Given the description of an element on the screen output the (x, y) to click on. 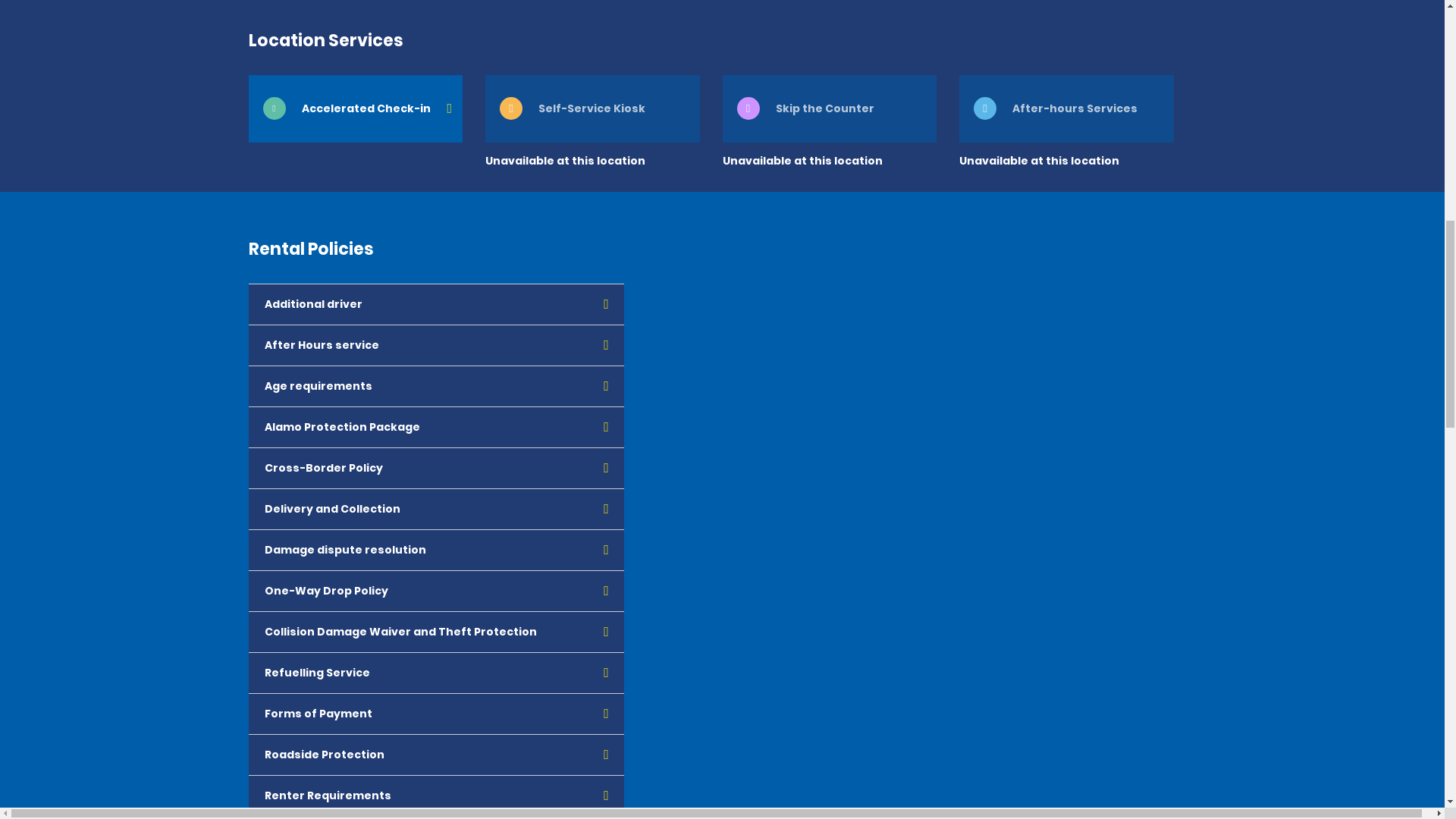
Alamo Protection Package (436, 427)
Delivery and Collection (436, 508)
Damage dispute resolution (436, 549)
Self-Service Kiosk (592, 108)
Cross-Border Policy (436, 467)
After-hours Services (1066, 108)
Age requirements (436, 386)
One-Way Drop Policy (436, 590)
Accelerated Check-in (355, 108)
After Hours service (436, 345)
Additional driver (436, 304)
Skip the Counter (829, 108)
